Given the description of an element on the screen output the (x, y) to click on. 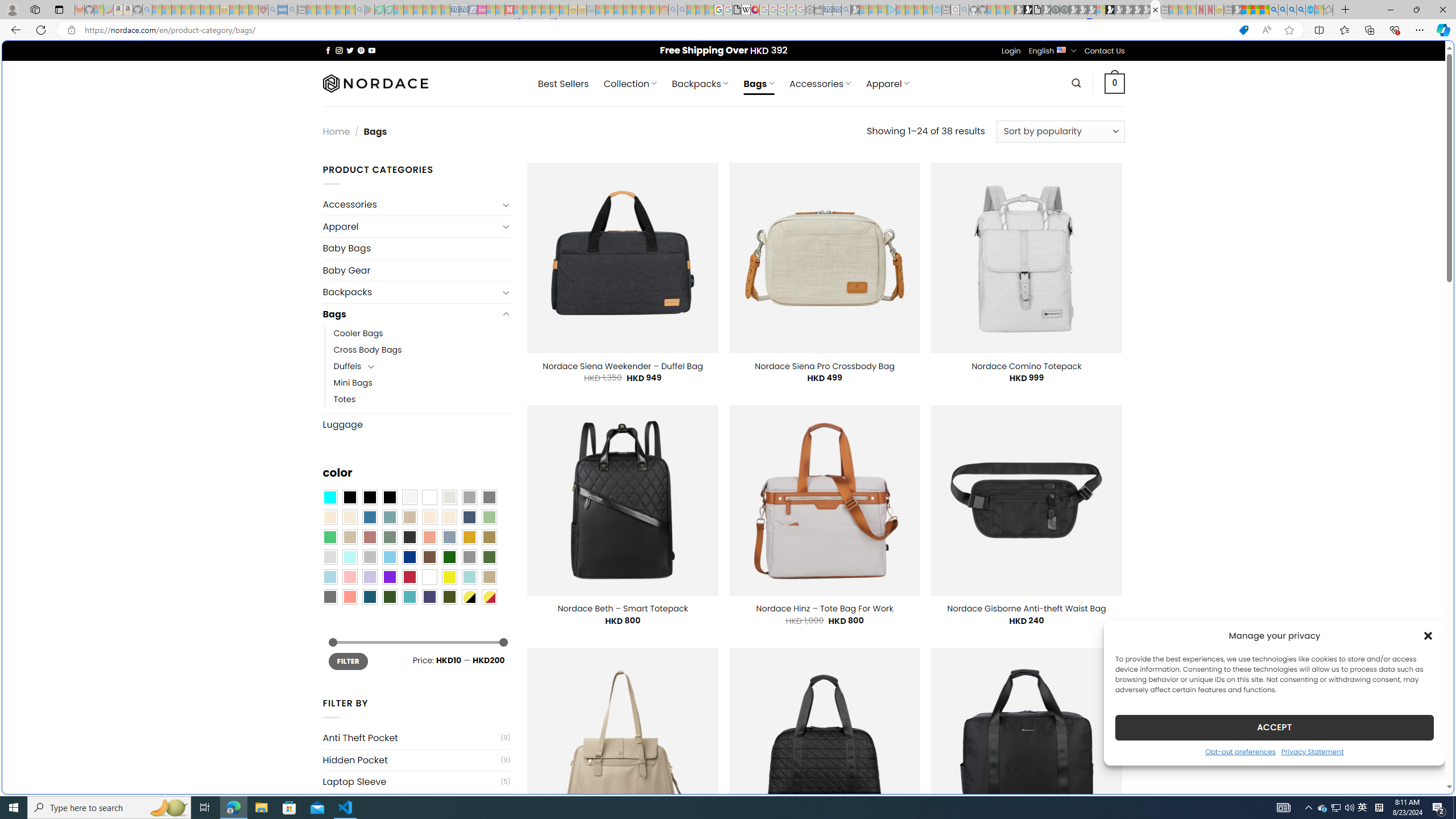
Shop order (1060, 131)
Yellow-Black (468, 596)
Charcoal (408, 536)
All Gray (488, 497)
